Given the description of an element on the screen output the (x, y) to click on. 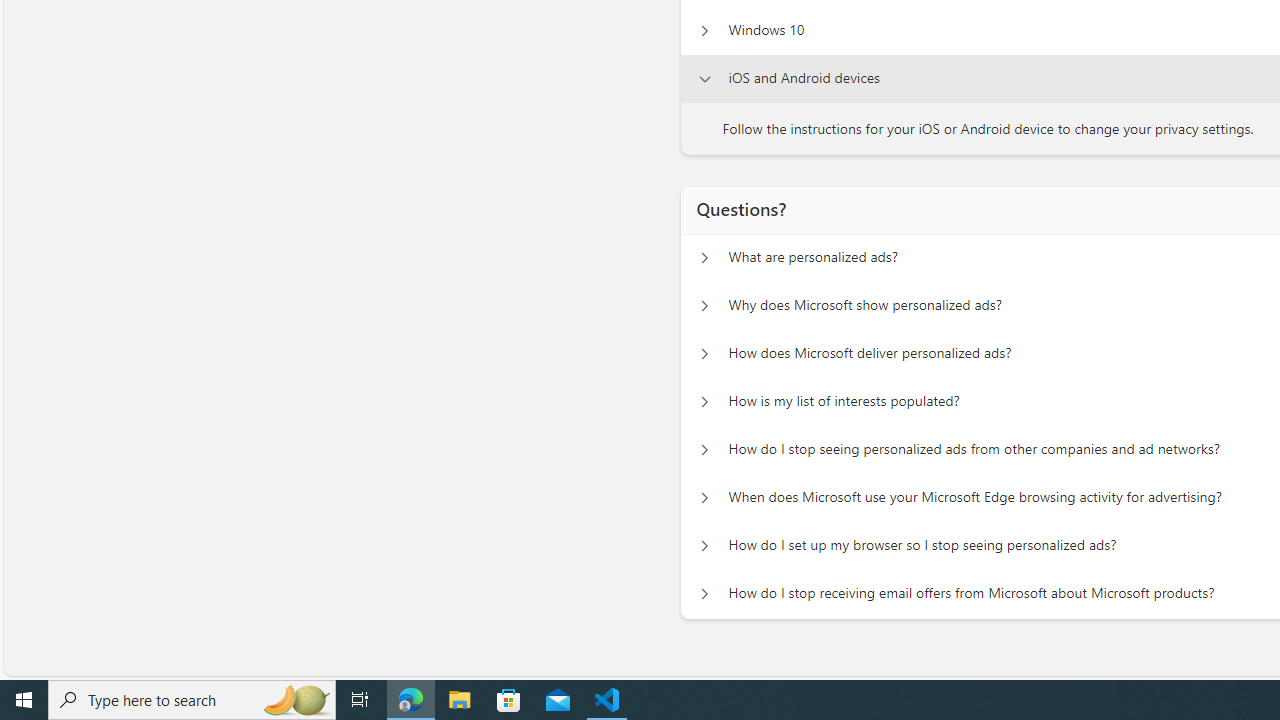
Manage personalized ads on your device Windows 10 (704, 30)
Questions? How is my list of interests populated? (704, 401)
Questions? What are personalized ads? (704, 258)
Questions? How does Microsoft deliver personalized ads? (704, 353)
Questions? Why does Microsoft show personalized ads? (704, 306)
